Given the description of an element on the screen output the (x, y) to click on. 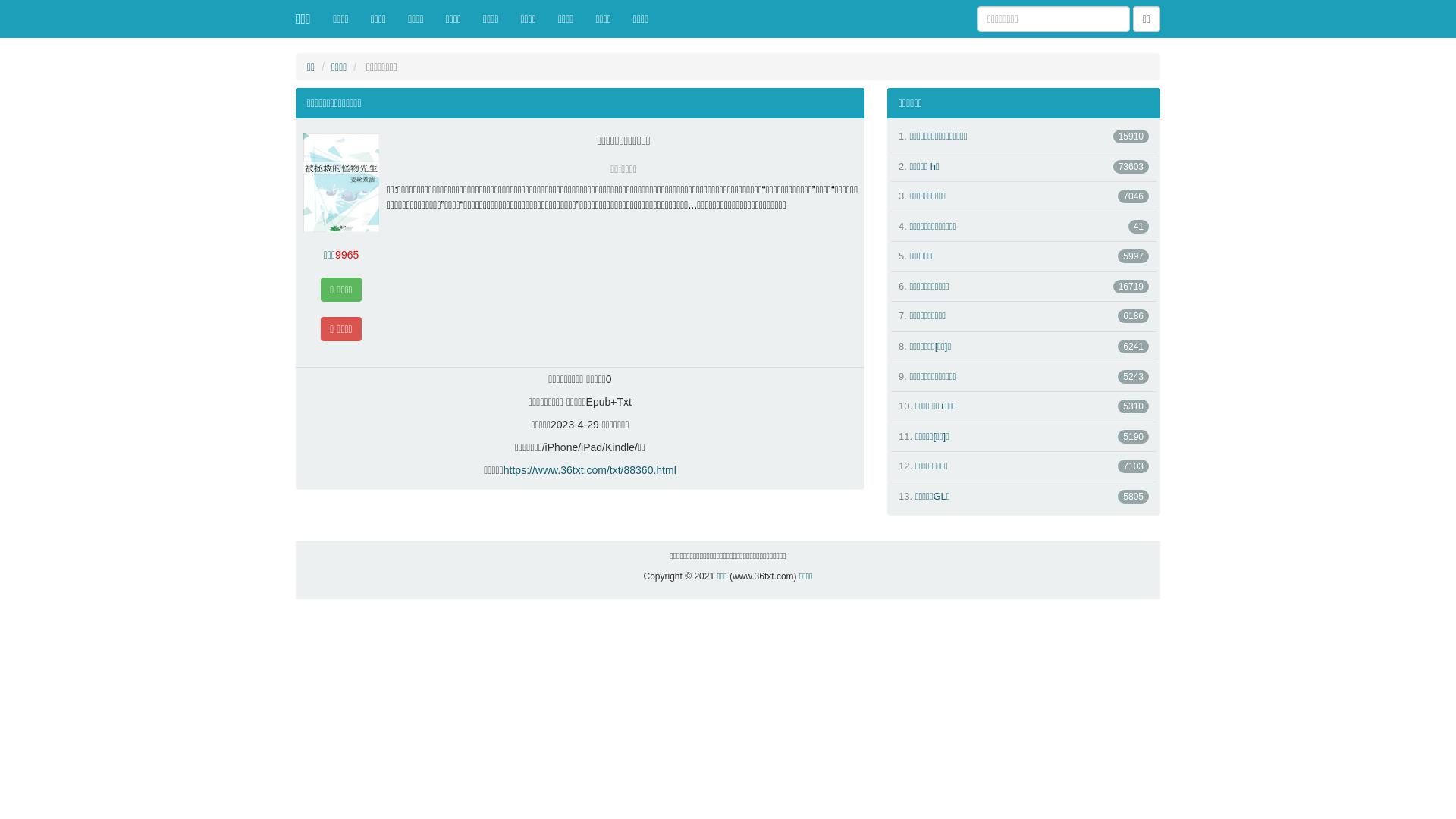
https://www.36txt.com/txt/88360.html Element type: text (589, 470)
